Given the description of an element on the screen output the (x, y) to click on. 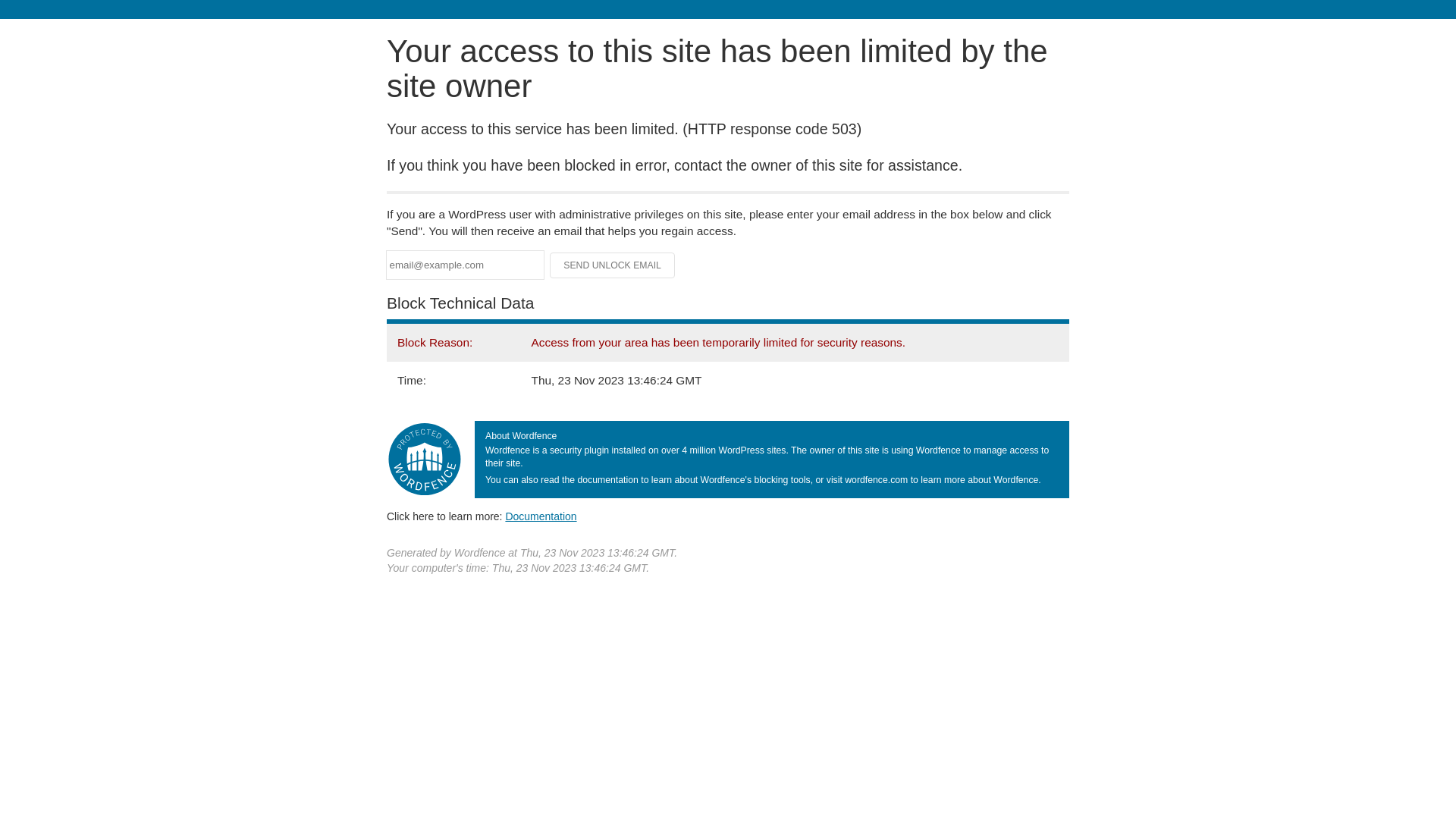
Send Unlock Email Element type: text (612, 265)
Documentation Element type: text (540, 516)
